Given the description of an element on the screen output the (x, y) to click on. 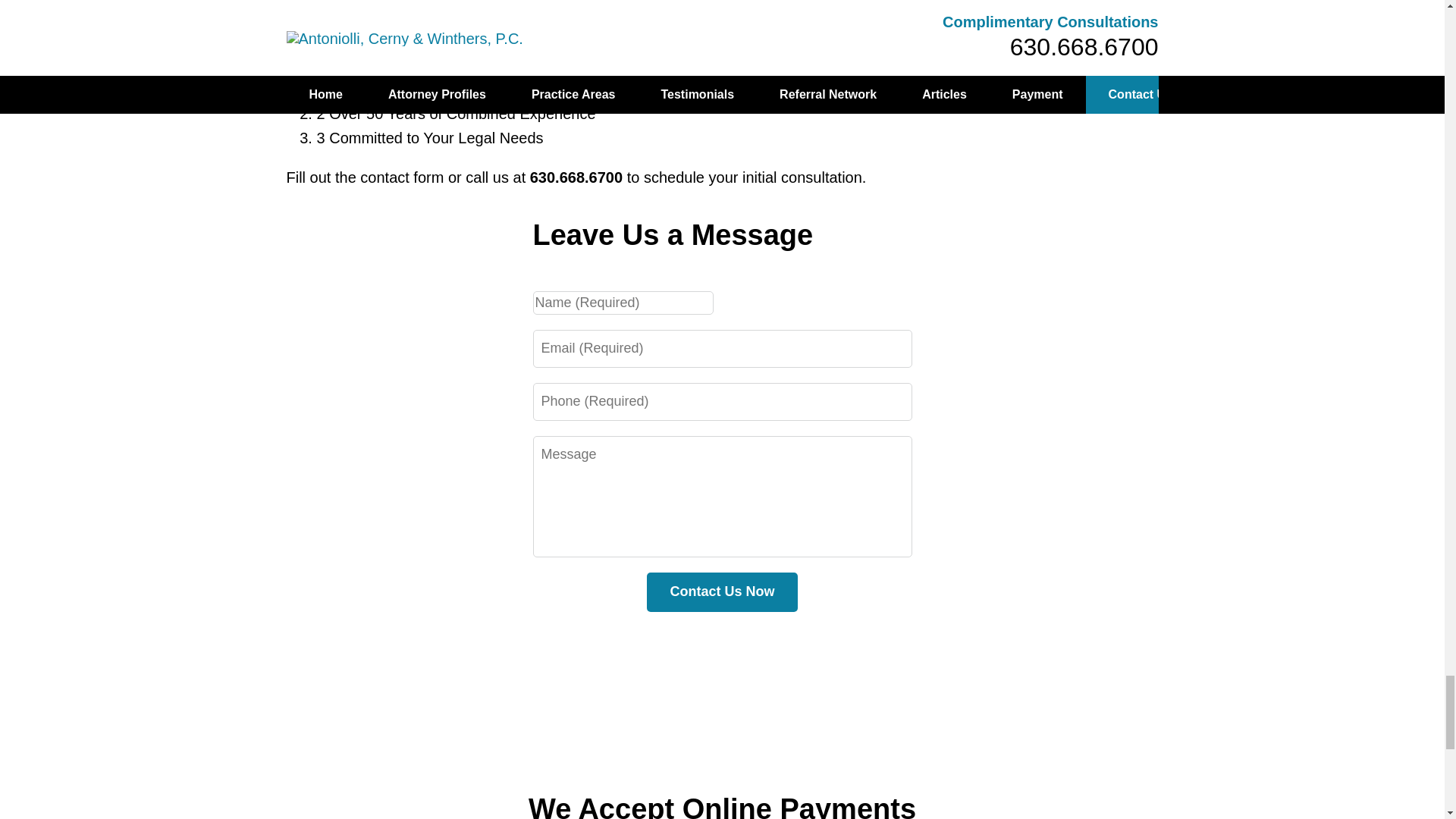
Contact Us Now (721, 591)
